Given the description of an element on the screen output the (x, y) to click on. 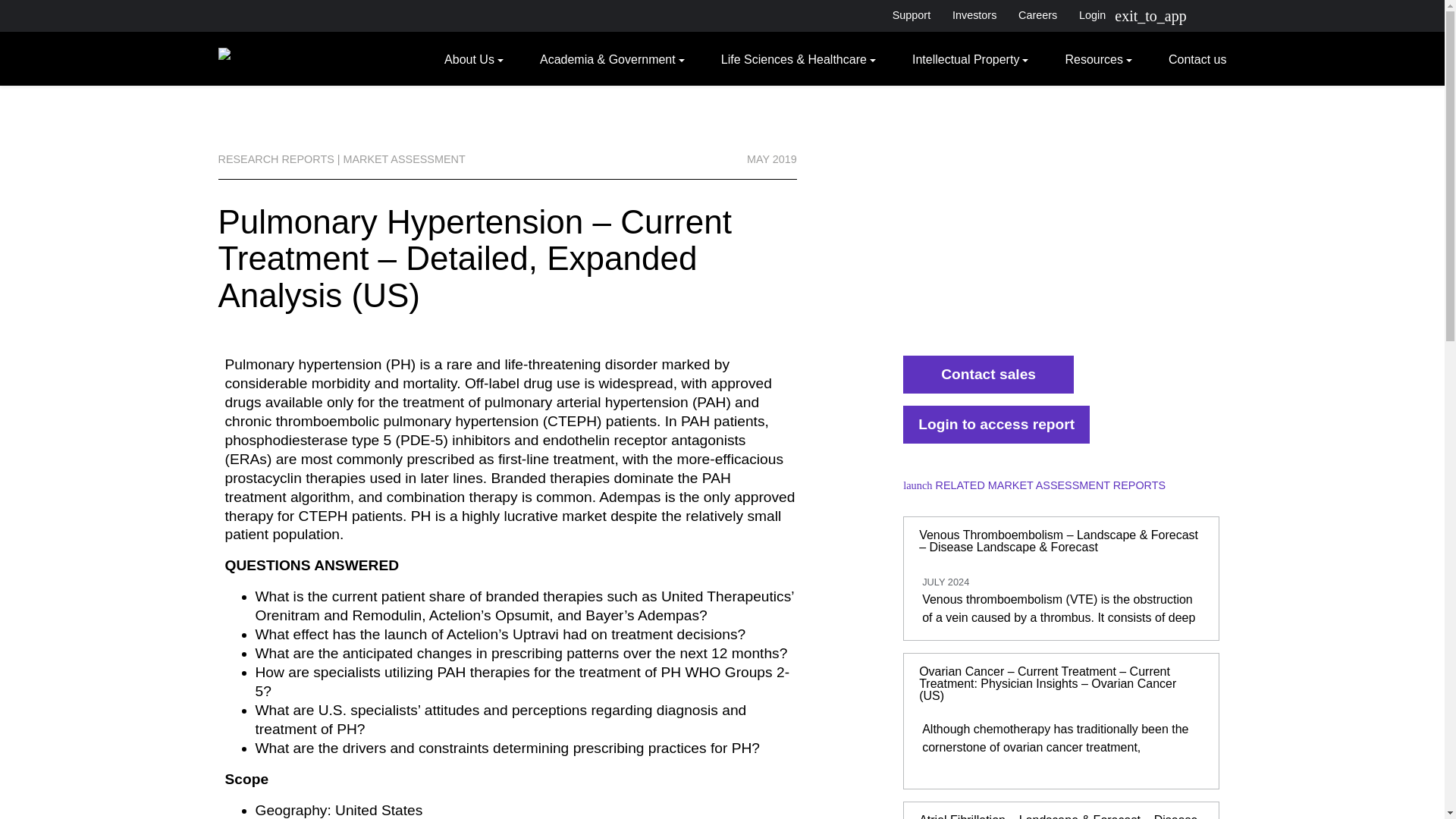
About Us (473, 58)
Investors (974, 15)
Support (910, 15)
Careers (1037, 15)
